Given the description of an element on the screen output the (x, y) to click on. 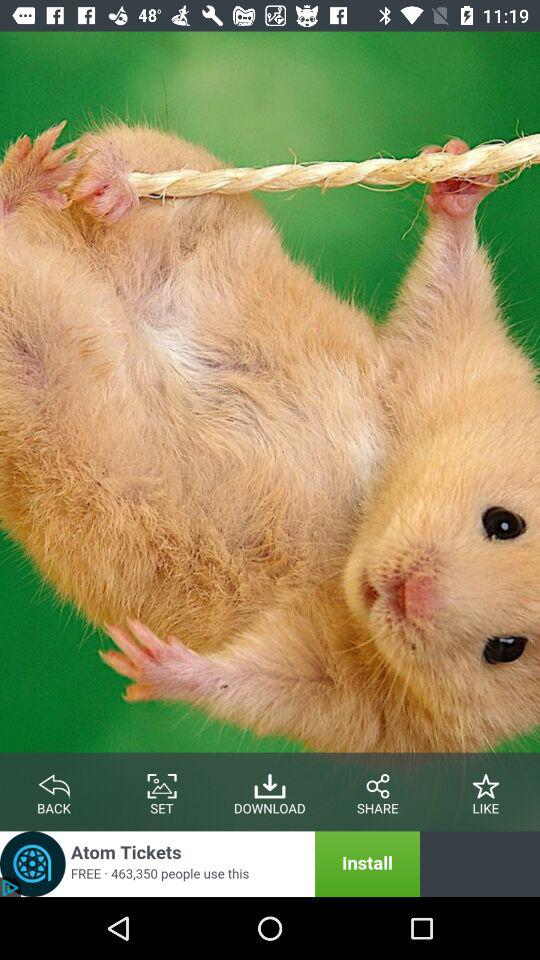
set as option (161, 782)
